Given the description of an element on the screen output the (x, y) to click on. 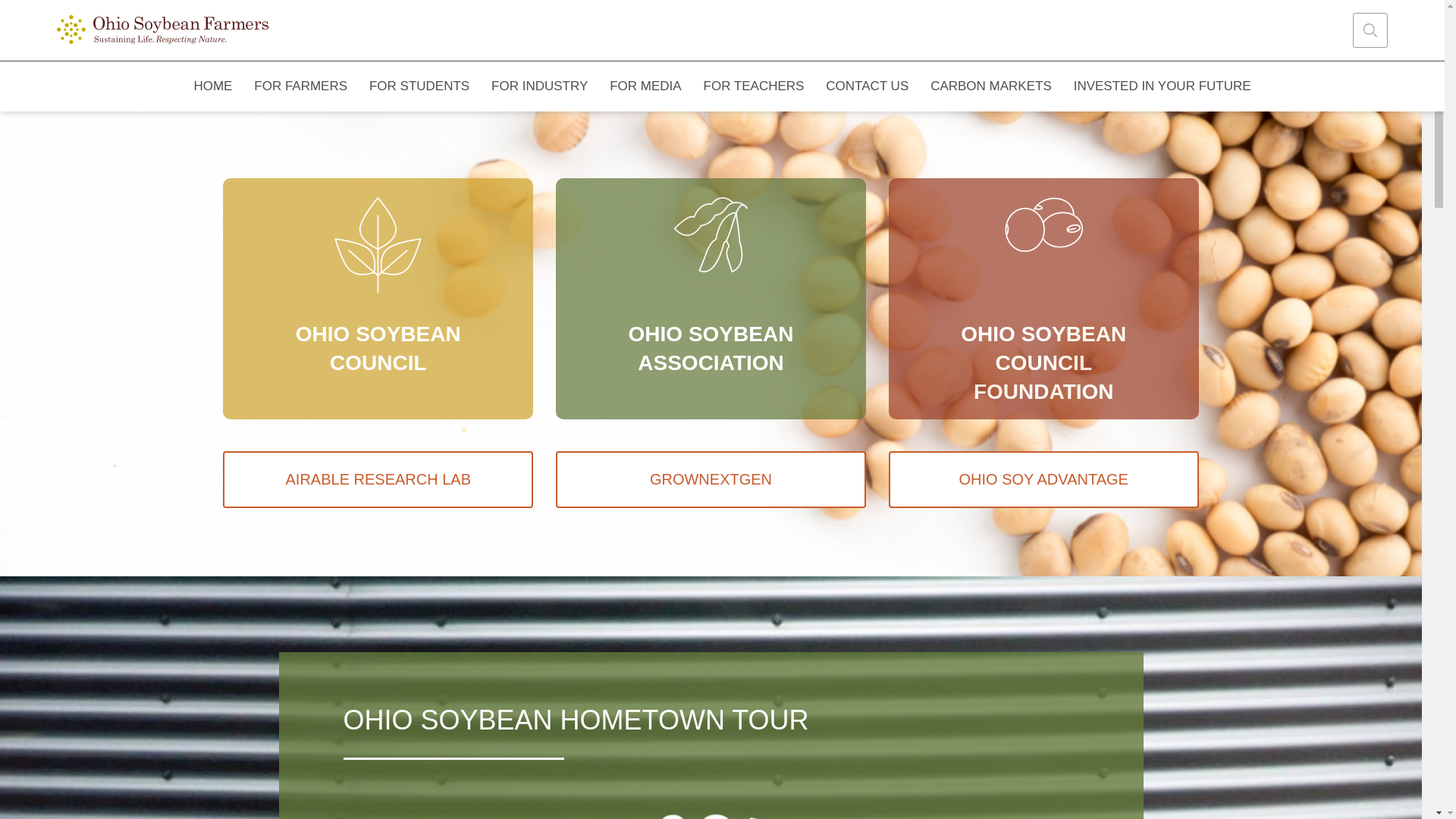
FOR TEACHERS (753, 86)
FOR MEDIA (645, 86)
FOR STUDENTS (418, 86)
FOR FARMERS (300, 86)
CONTACT US (867, 86)
CARBON MARKETS (991, 86)
HOME (213, 86)
FOR INDUSTRY (539, 86)
INVESTED IN YOUR FUTURE (1161, 86)
